Given the description of an element on the screen output the (x, y) to click on. 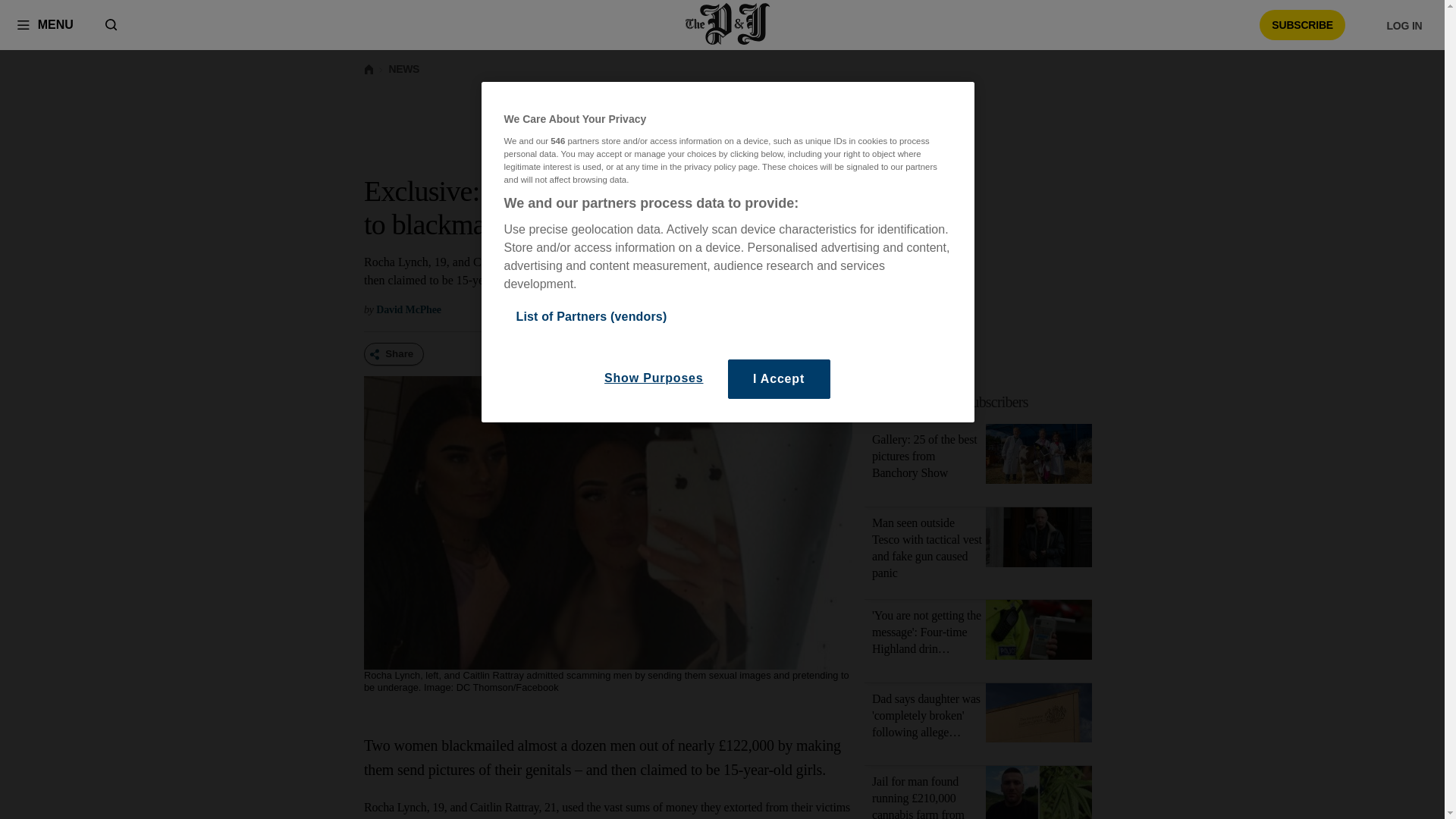
Exclusive to our subscribers (950, 402)
Gallery: 25 of the best pictures from Banchory Show (1038, 456)
Exclusive to our subscribers (986, 402)
MENU (44, 24)
Press and Journal (727, 24)
